Given the description of an element on the screen output the (x, y) to click on. 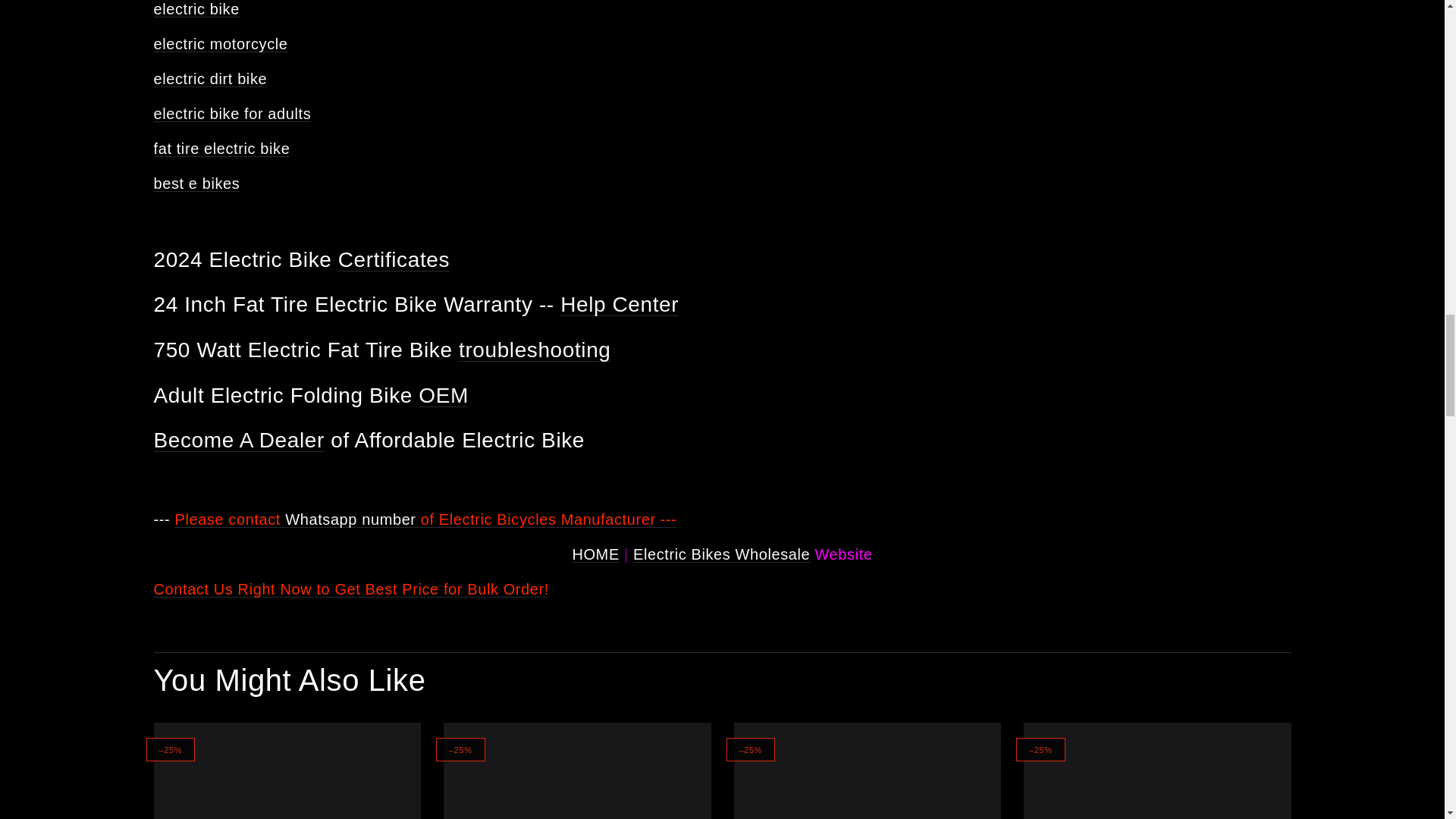
electric bike for adults (231, 113)
electric dirt bike (209, 78)
electric bike (195, 8)
electric motorcycle (219, 44)
